Given the description of an element on the screen output the (x, y) to click on. 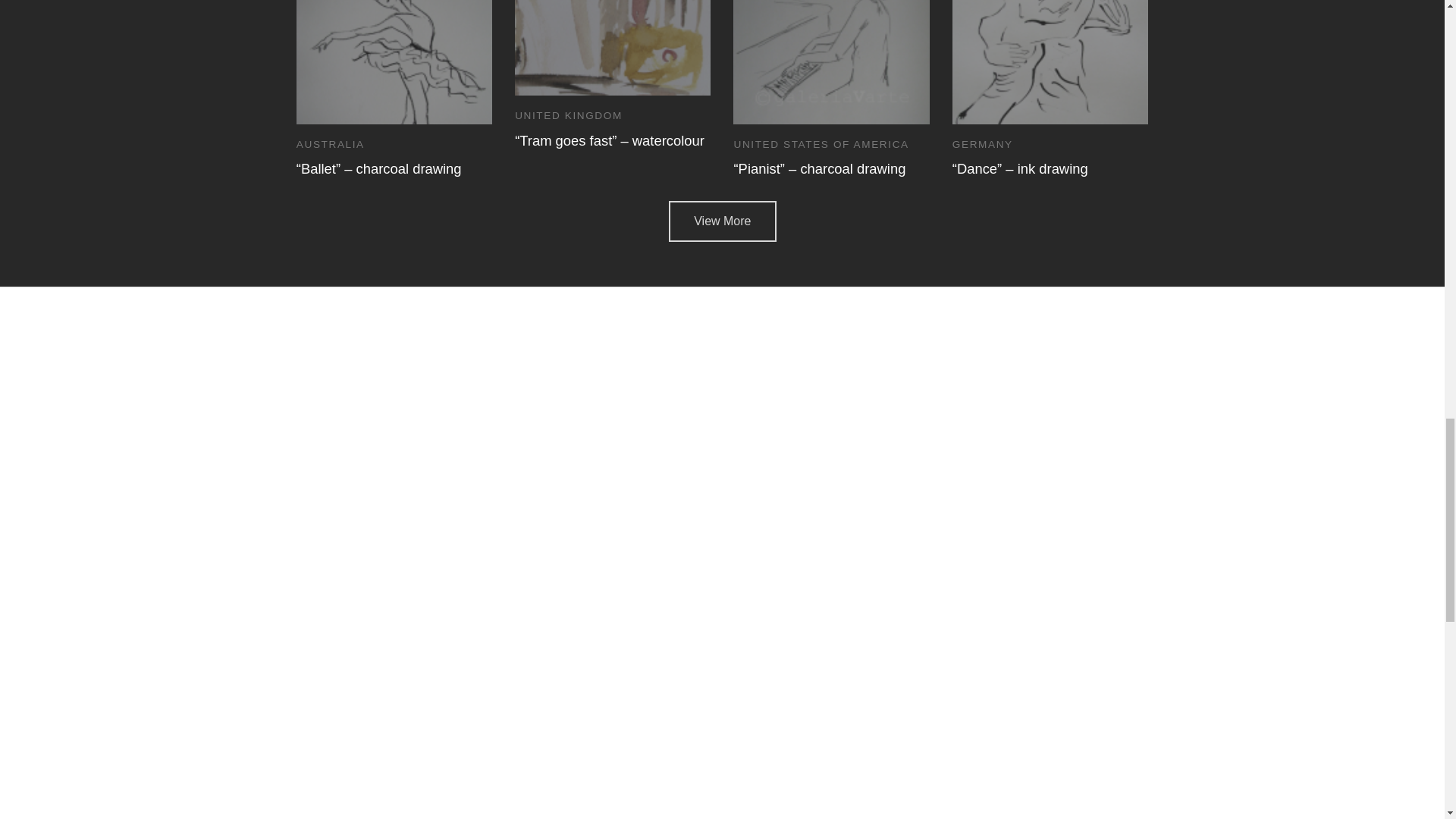
Portfolio (722, 220)
View More (722, 220)
